Given the description of an element on the screen output the (x, y) to click on. 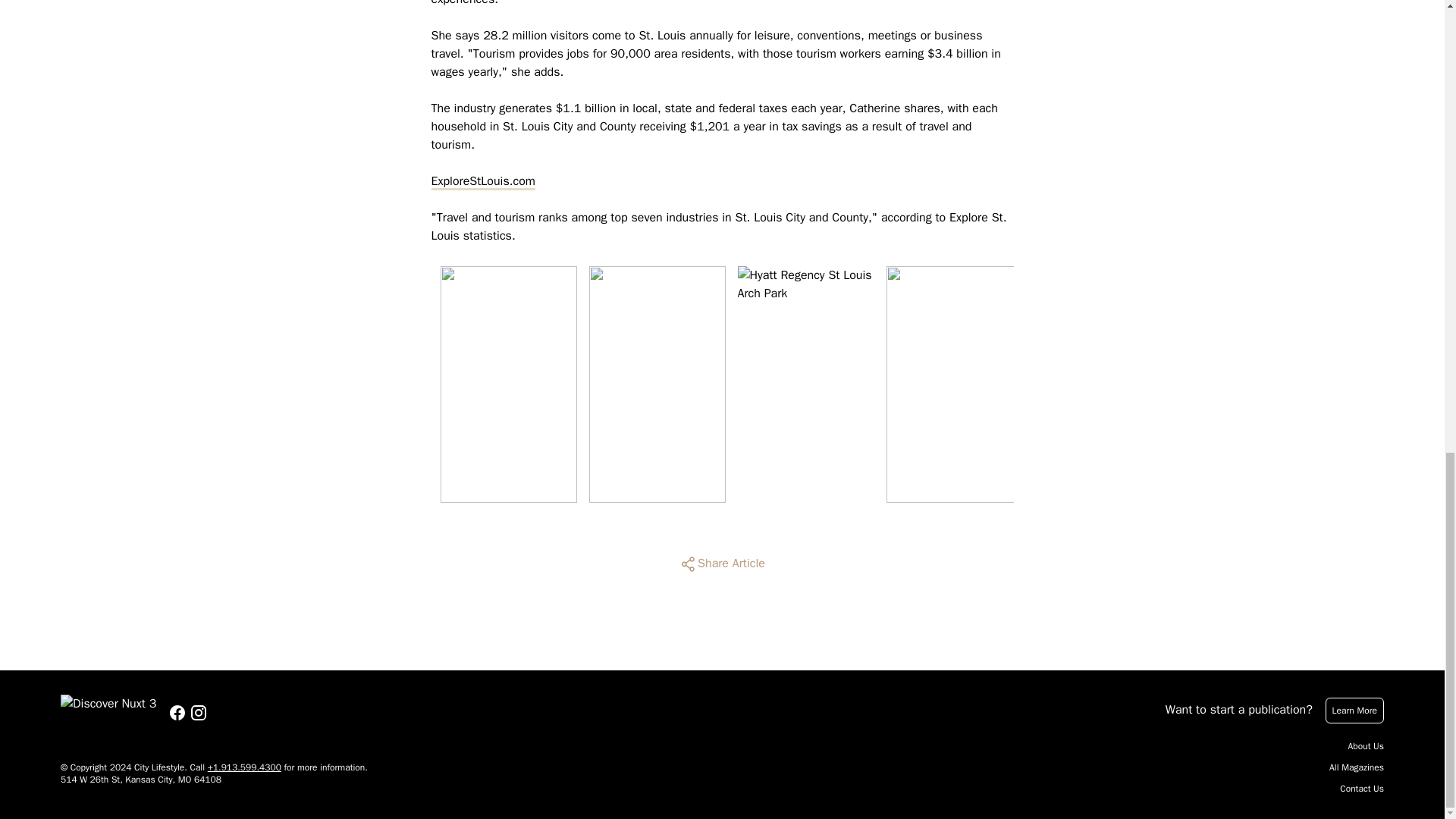
All Magazines (1356, 767)
Share Article (722, 563)
Contact Us (1361, 788)
ExploreStLouis.com (482, 180)
Learn More (1354, 710)
About Us (1366, 746)
